Given the description of an element on the screen output the (x, y) to click on. 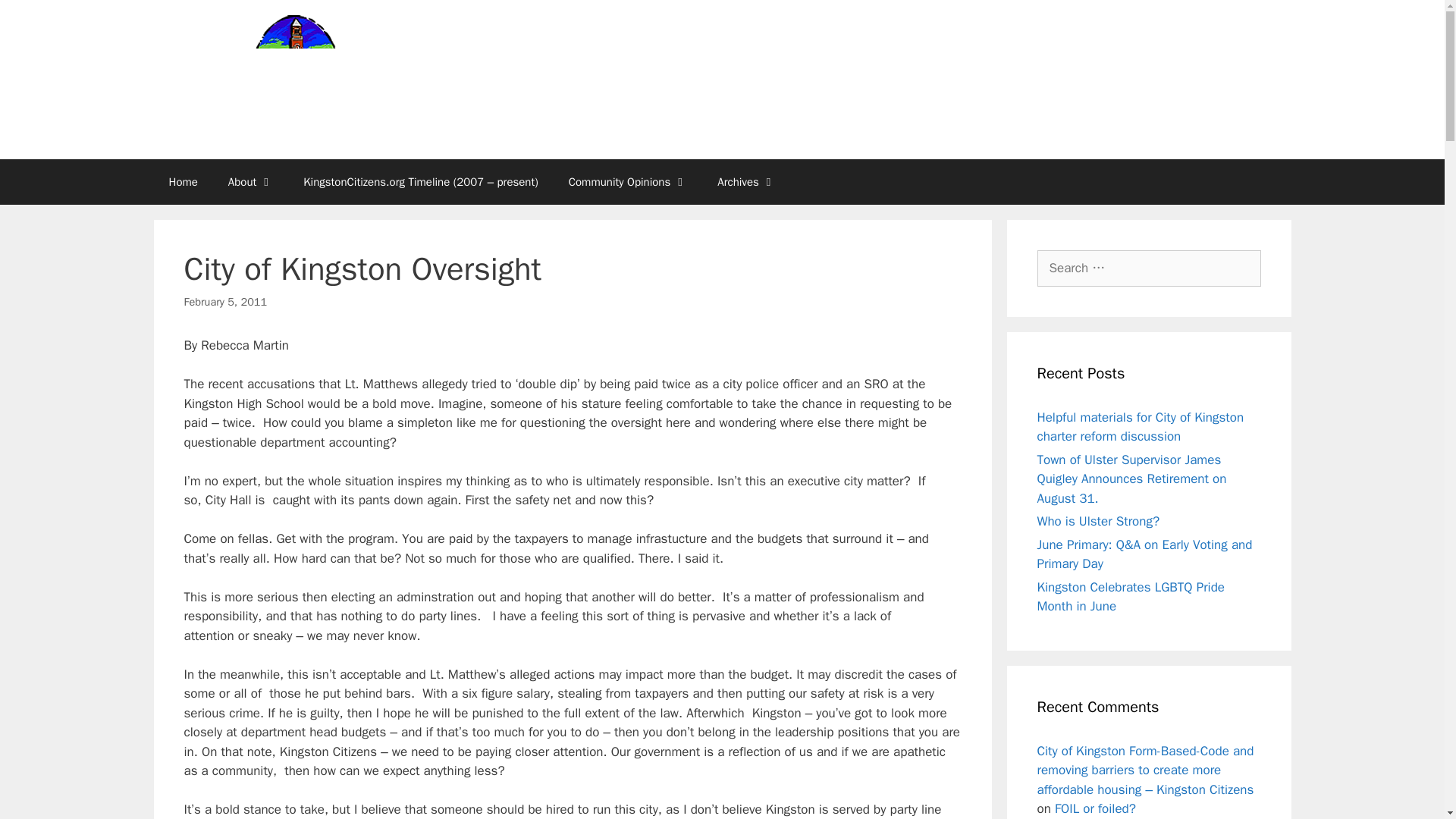
Home (182, 181)
Community Opinions (628, 181)
Search for: (1148, 268)
About (250, 181)
